Given the description of an element on the screen output the (x, y) to click on. 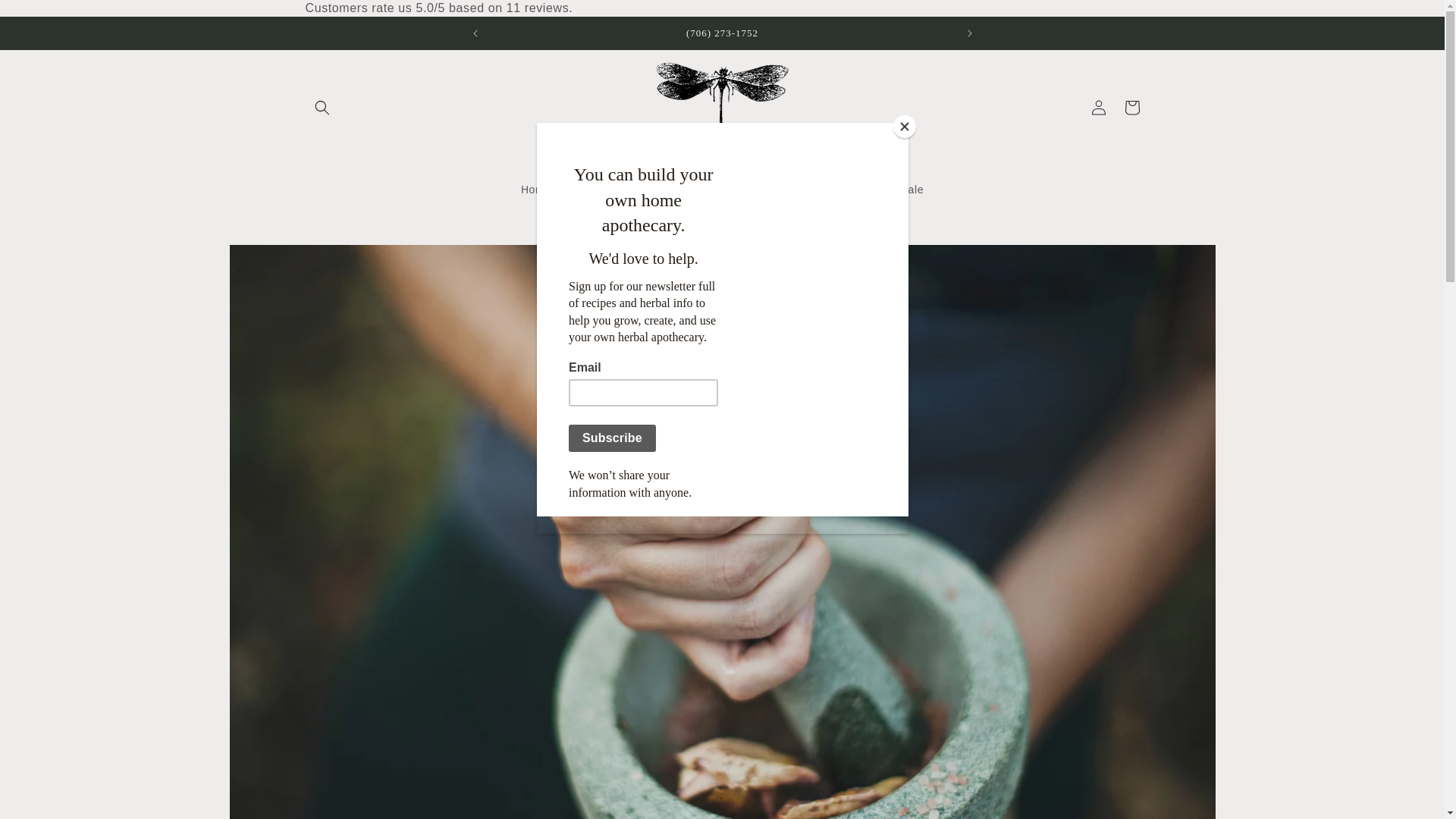
Disclaimer (824, 189)
Products (592, 189)
Cart (1131, 107)
Skip to content (45, 17)
Contact (759, 189)
Wholesale (896, 189)
Log in (1098, 107)
Home (536, 189)
Blog (644, 189)
About Us (697, 189)
